Given the description of an element on the screen output the (x, y) to click on. 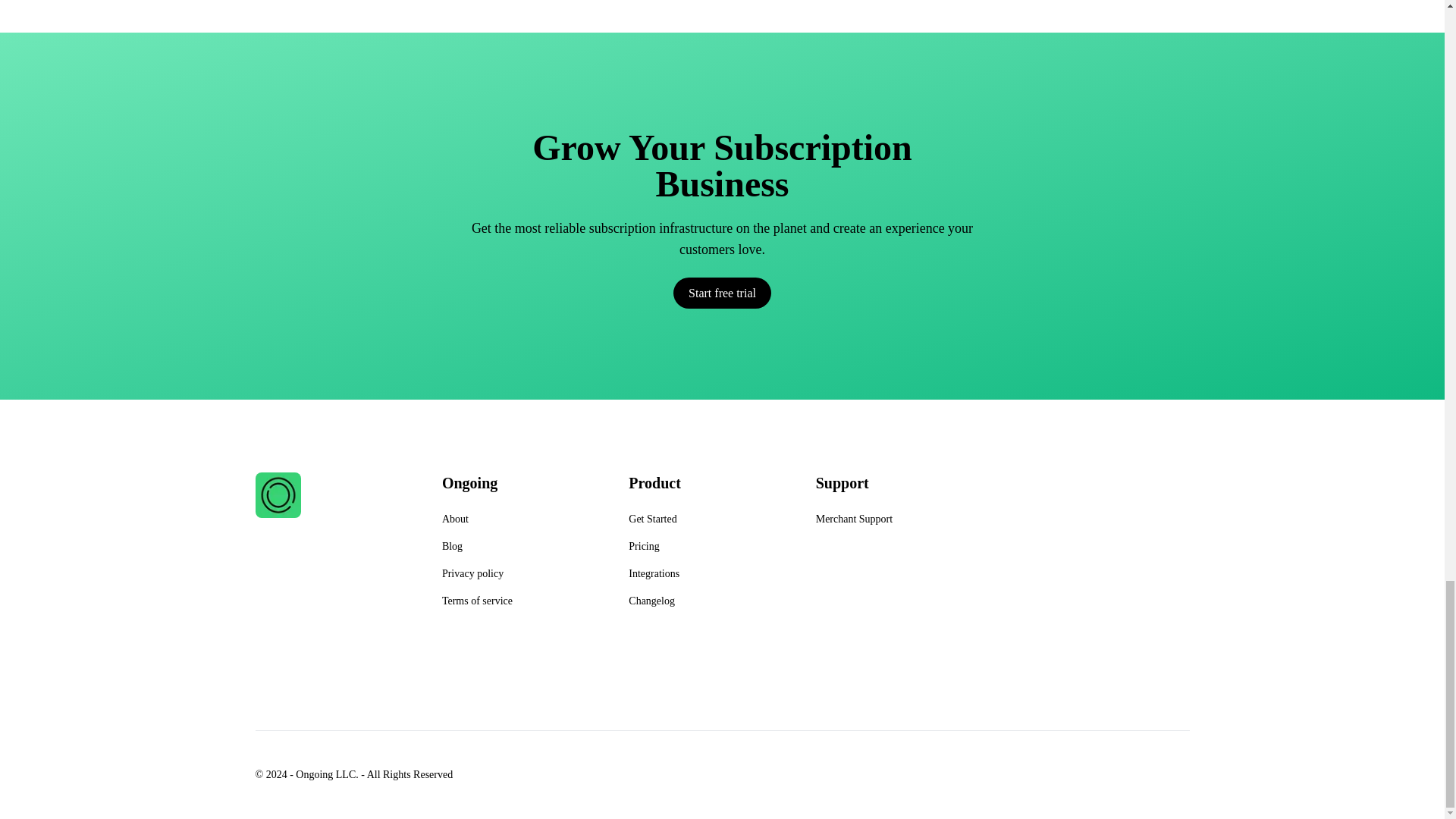
Changelog (651, 600)
Privacy policy (472, 573)
Integrations (653, 573)
Get Started (652, 518)
Merchant Support (853, 518)
Pricing (643, 546)
Terms of service (477, 600)
About (455, 518)
Start free trial (721, 292)
Blog (452, 546)
